Given the description of an element on the screen output the (x, y) to click on. 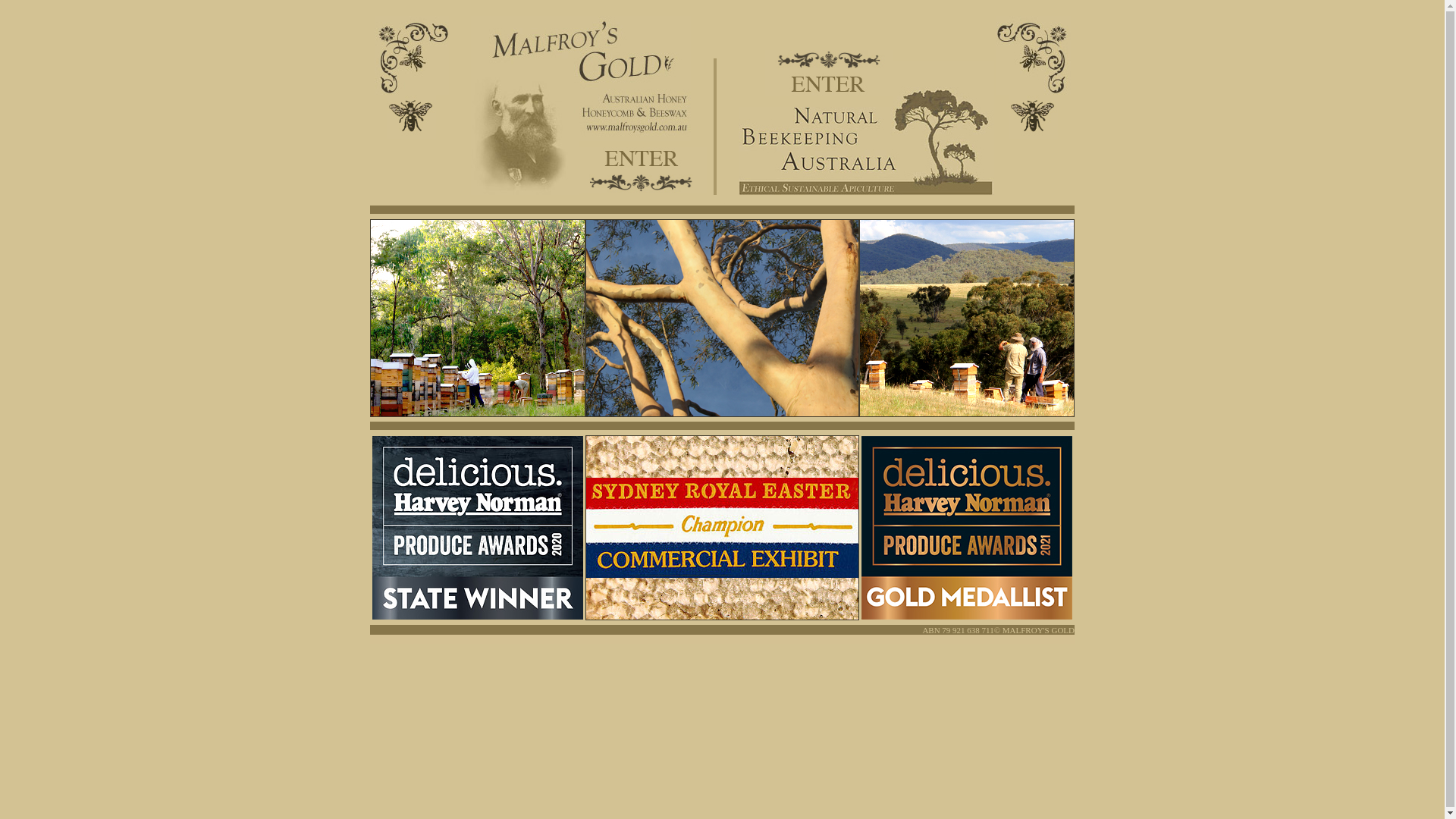
Natural Beekeeping Australia Logo Element type: hover (815, 150)
Malfroy's Gold Delicious Award State Winner 2020 Element type: hover (477, 527)
Natural Beekeeping Australia Logo Element type: hover (943, 127)
Malfroy's Gold Bee Element type: hover (1032, 116)
Go to Malfroy's Gold Element type: hover (642, 158)
Malfroy's Gold Logo Element type: hover (634, 78)
Malfroy's Gold Delicious Award State Winner 2019 Element type: hover (966, 527)
Malfroy's Gold Sydney Show Champion Element type: hover (722, 527)
Go to Malfroy's Gold Element type: hover (477, 318)
Go to Malfroy's Gold Element type: hover (642, 180)
Go to Natural Beekeeping Australia Element type: hover (829, 61)
Malfroy's Gold Left Corner Element type: hover (411, 54)
Malfroy's Gold Bee Element type: hover (411, 116)
Go to Natural Beekeeping Australia Element type: hover (829, 83)
Malfroy's Gold Right Corner Element type: hover (1032, 54)
Malfroy's Gold Logo Element type: hover (524, 104)
Go to Natural Beekeeping Australia Element type: hover (966, 318)
